Given the description of an element on the screen output the (x, y) to click on. 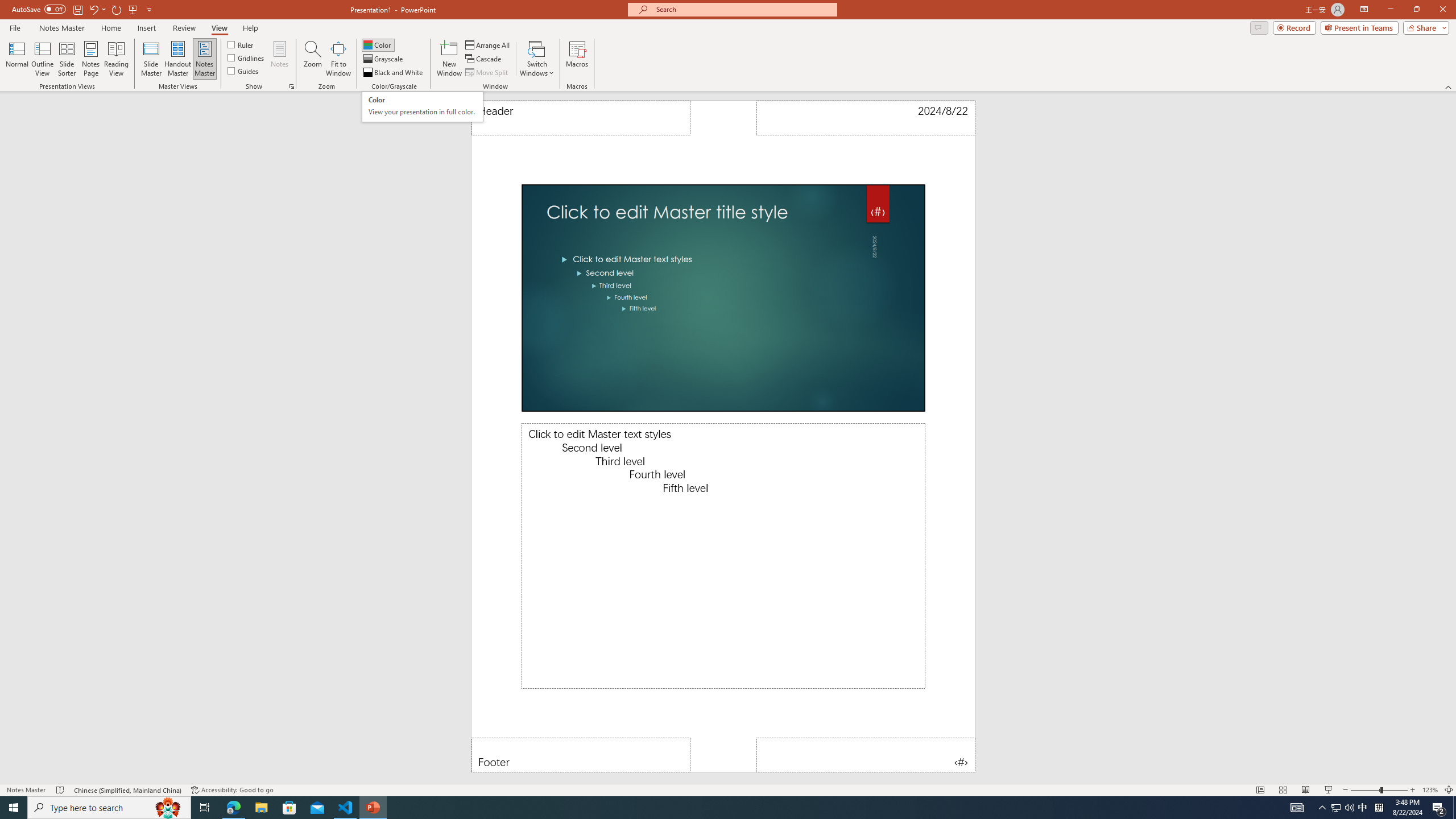
Color (377, 44)
Black and White (393, 72)
Ruler (241, 44)
Notes Master (204, 58)
Header (580, 117)
